Given the description of an element on the screen output the (x, y) to click on. 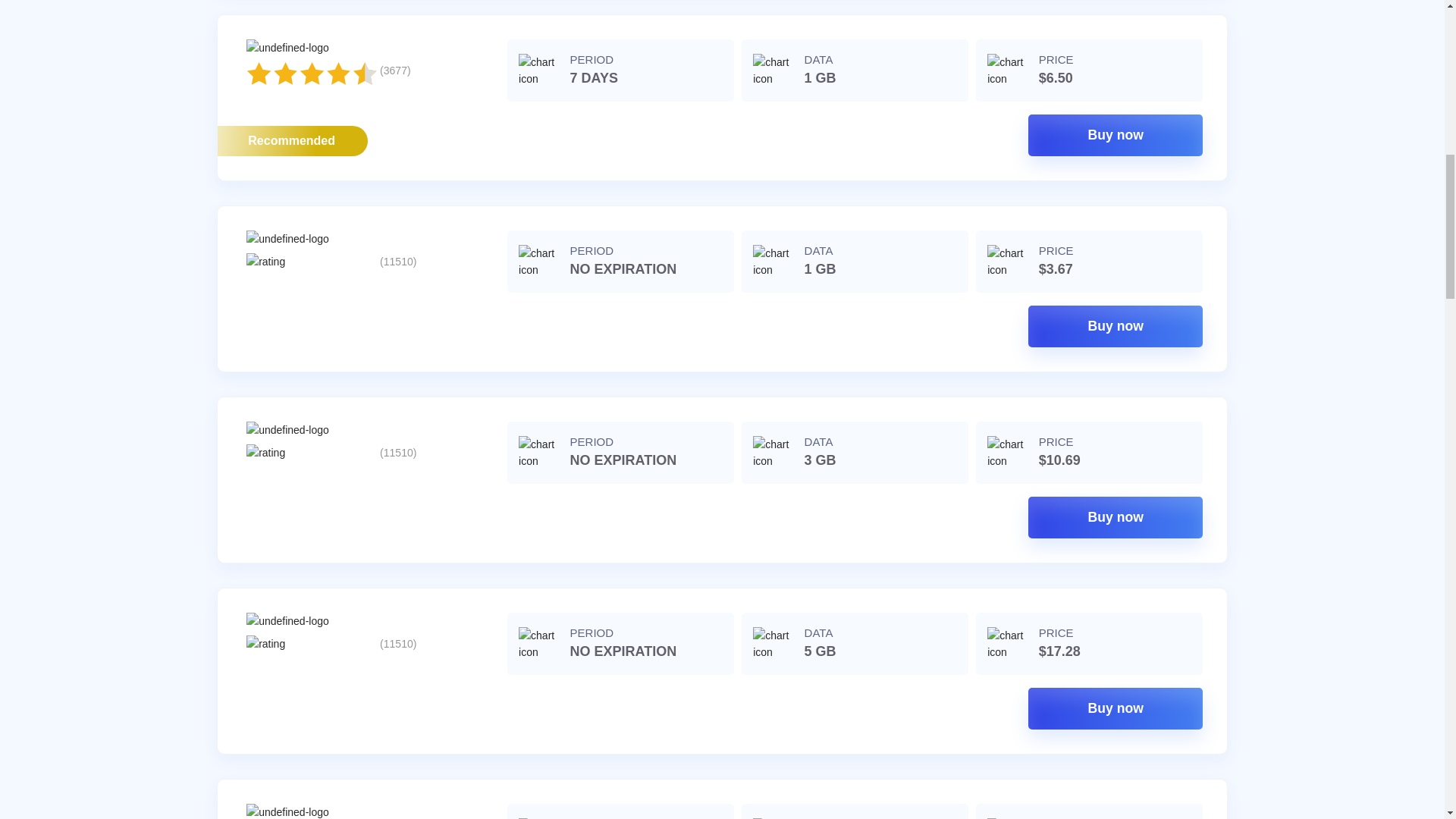
Buy now (1114, 517)
Buy now (1114, 708)
Buy now (1114, 135)
Buy now (1114, 326)
